Given the description of an element on the screen output the (x, y) to click on. 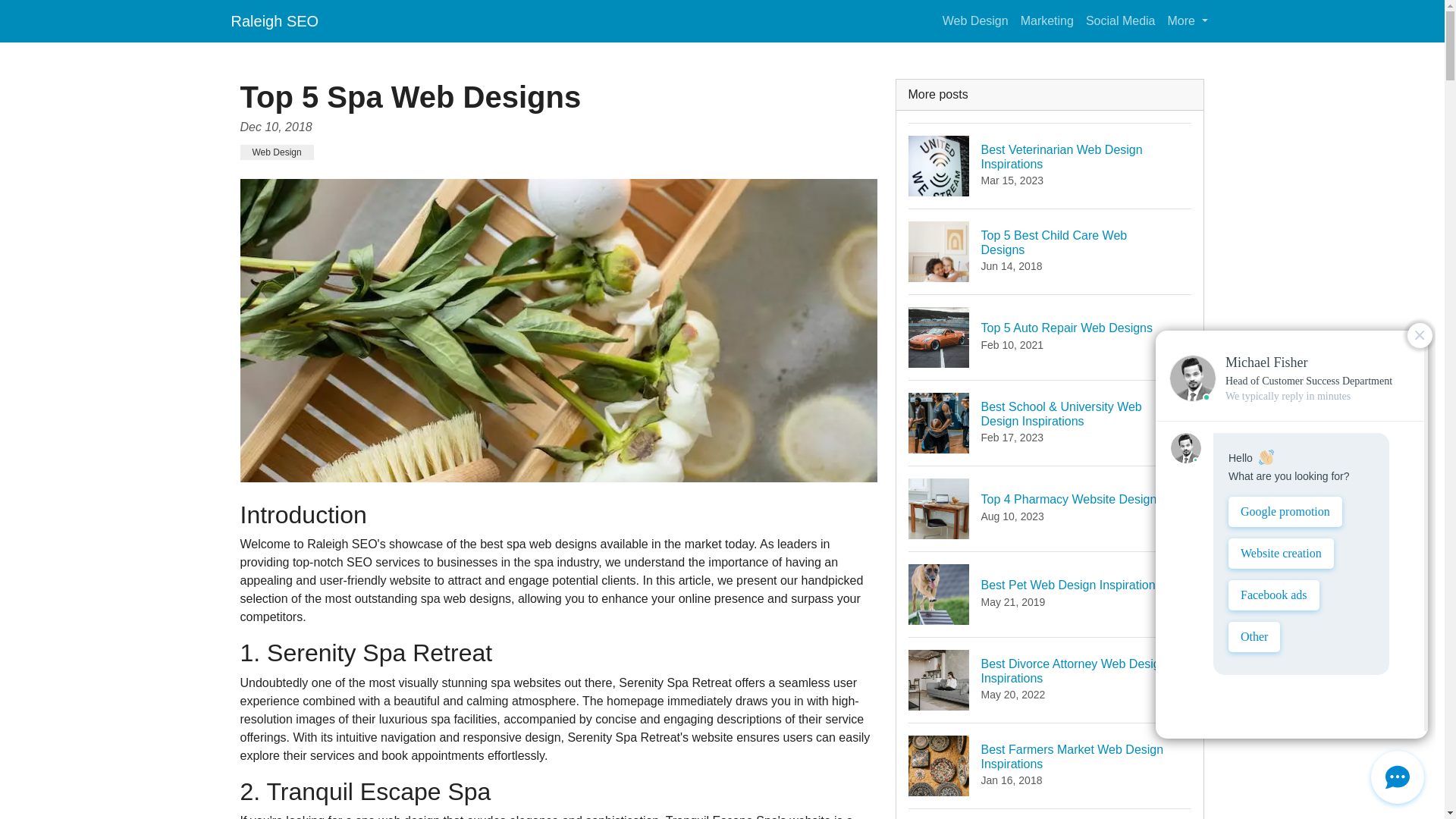
More (1187, 20)
Marketing (1050, 594)
Raleigh SEO (1047, 20)
Web Design (1050, 165)
Social Media (1050, 508)
Web Design (1050, 765)
